Given the description of an element on the screen output the (x, y) to click on. 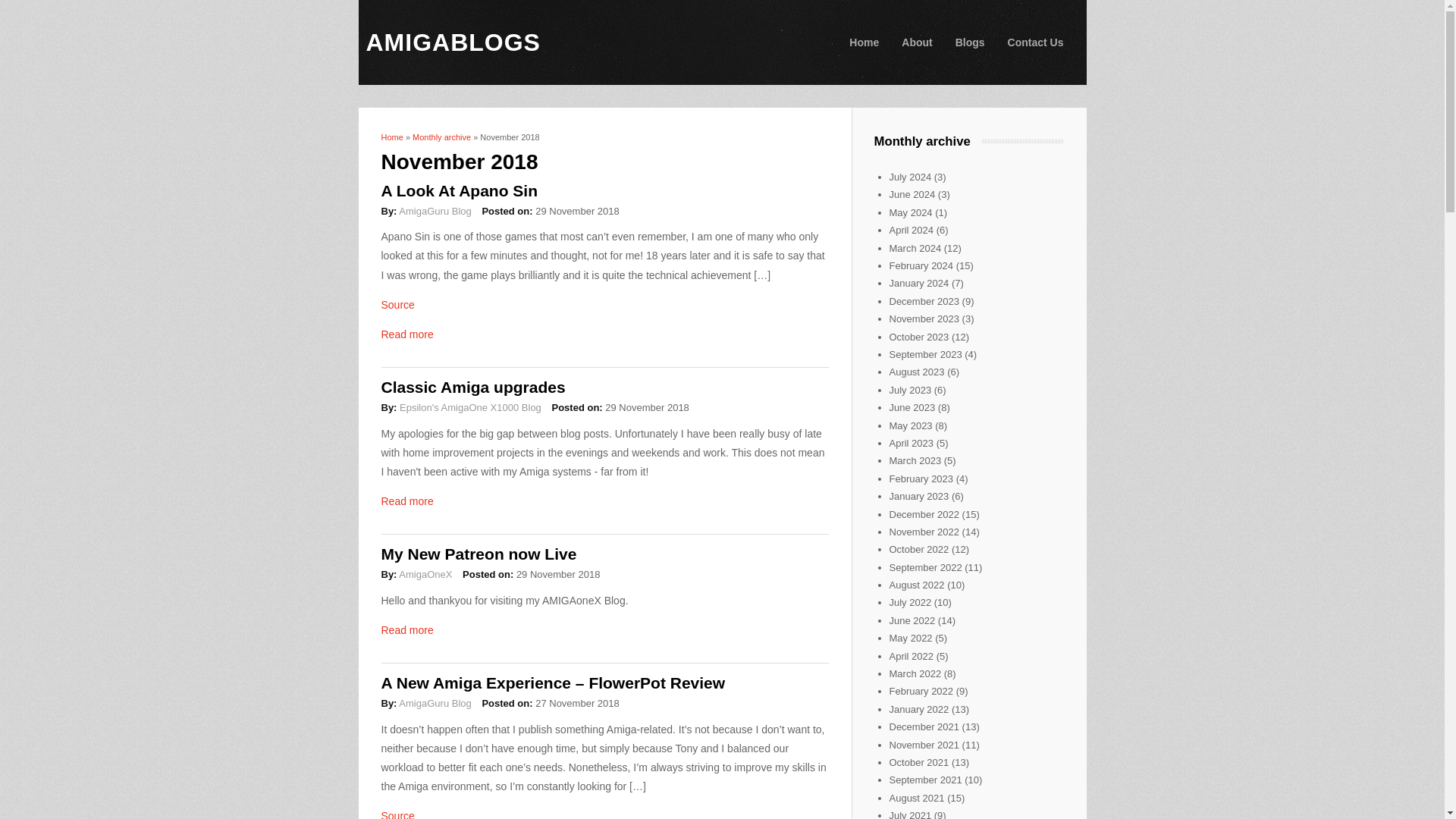
Epsilon's AmigaOne X1000 Blog (469, 407)
Blogs (969, 42)
AmigaGuru Blog (434, 211)
Monthly archive (441, 136)
Contact Us (1035, 42)
AmigaGuru Blog (434, 703)
Home (863, 42)
AMIGABLOGS (452, 42)
Home (391, 136)
Classic Amiga upgrades (472, 386)
My New Patreon now Live (478, 553)
Home (452, 42)
Source (396, 304)
About (916, 42)
Read more (406, 630)
